Given the description of an element on the screen output the (x, y) to click on. 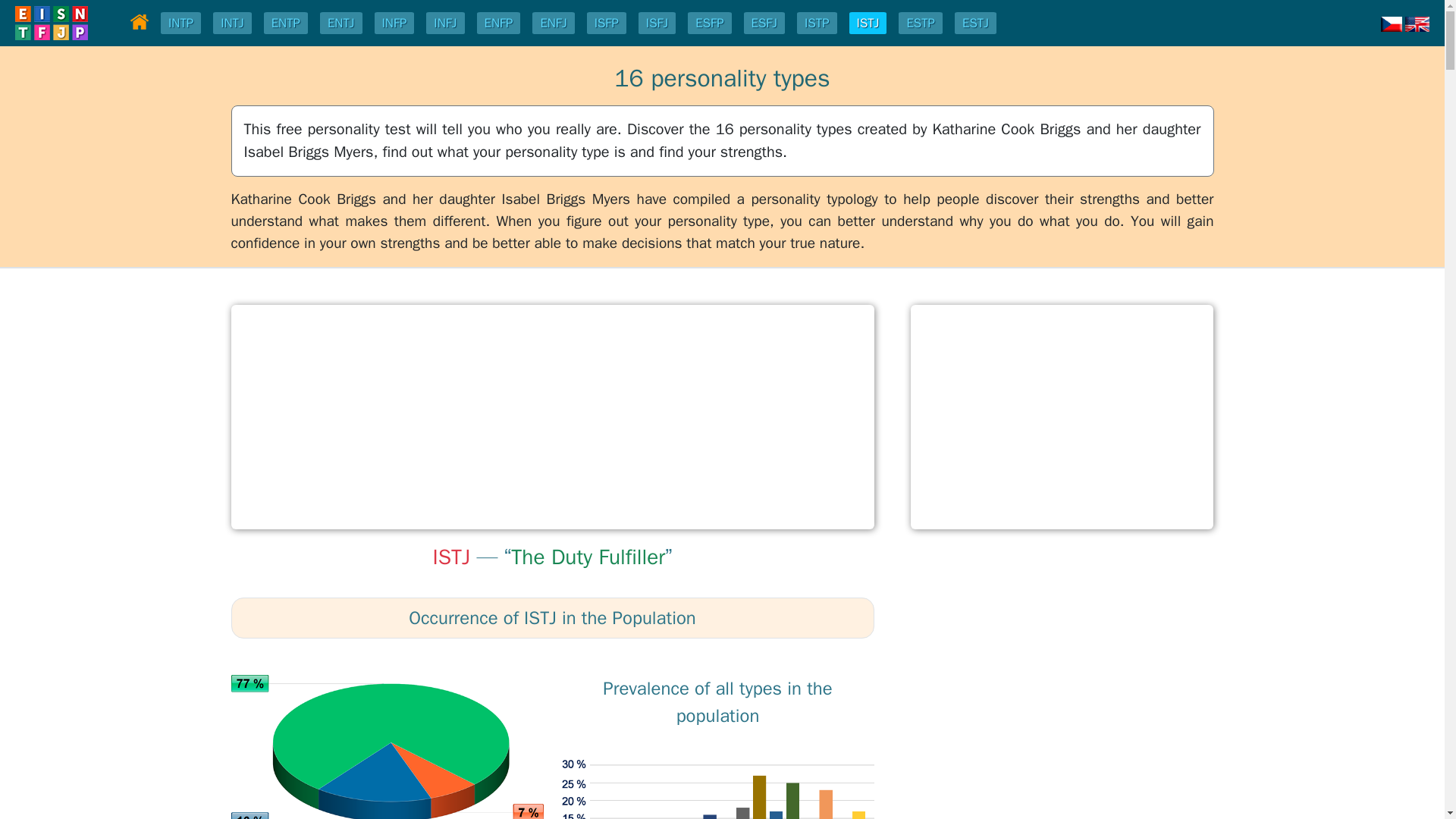
Advertisement (1061, 417)
ISFJ (656, 23)
ENFP (498, 23)
ESFP (708, 23)
ESTP (920, 23)
INTJ (231, 23)
ENFJ (552, 23)
INFJ (445, 23)
ISFP (605, 23)
ESFJ (765, 23)
Advertisement (551, 417)
ENTJ (341, 23)
INTP (180, 23)
ENTP (285, 23)
ISTP (816, 23)
